Given the description of an element on the screen output the (x, y) to click on. 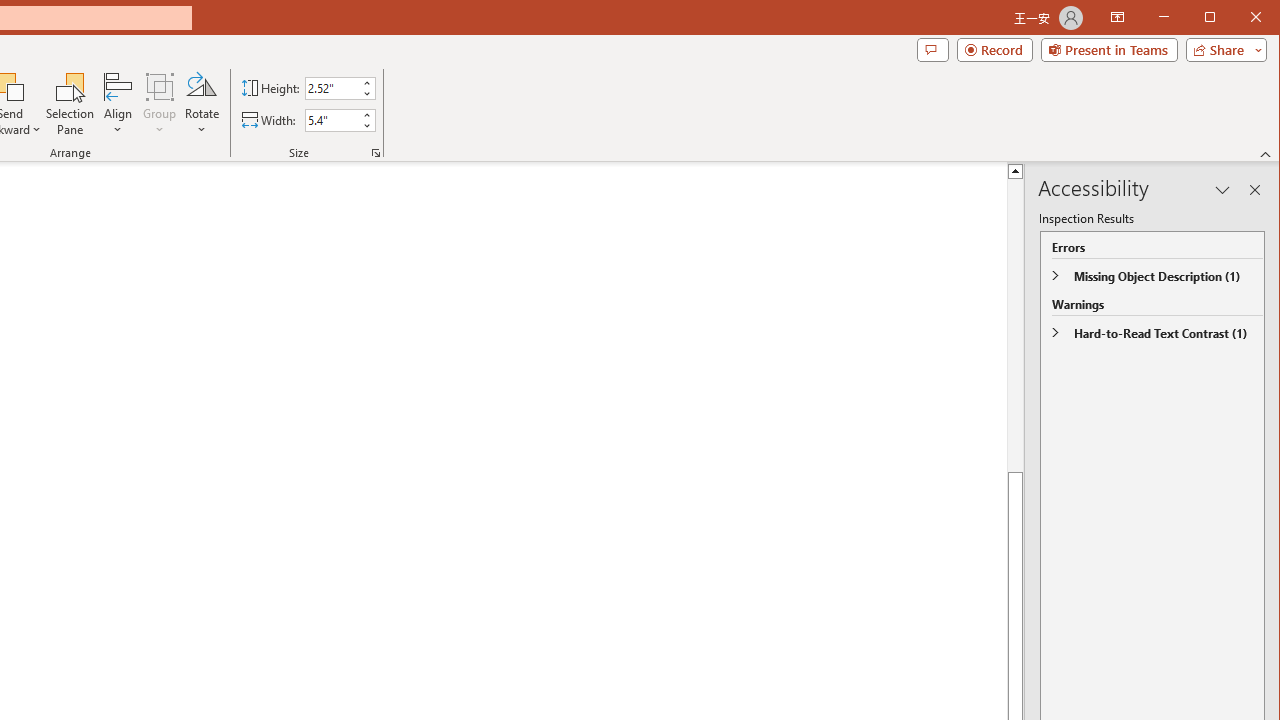
Page up (1015, 311)
Rotate (201, 104)
Maximize (1238, 18)
Ribbon Display Options (1117, 17)
Size and Position... (376, 152)
Shape Width (331, 120)
Selection Pane... (70, 104)
Line up (1015, 170)
Collapse the Ribbon (1266, 154)
Close (1261, 18)
Minimize (1216, 18)
Group (159, 104)
Close pane (1254, 189)
Less (366, 125)
